Given the description of an element on the screen output the (x, y) to click on. 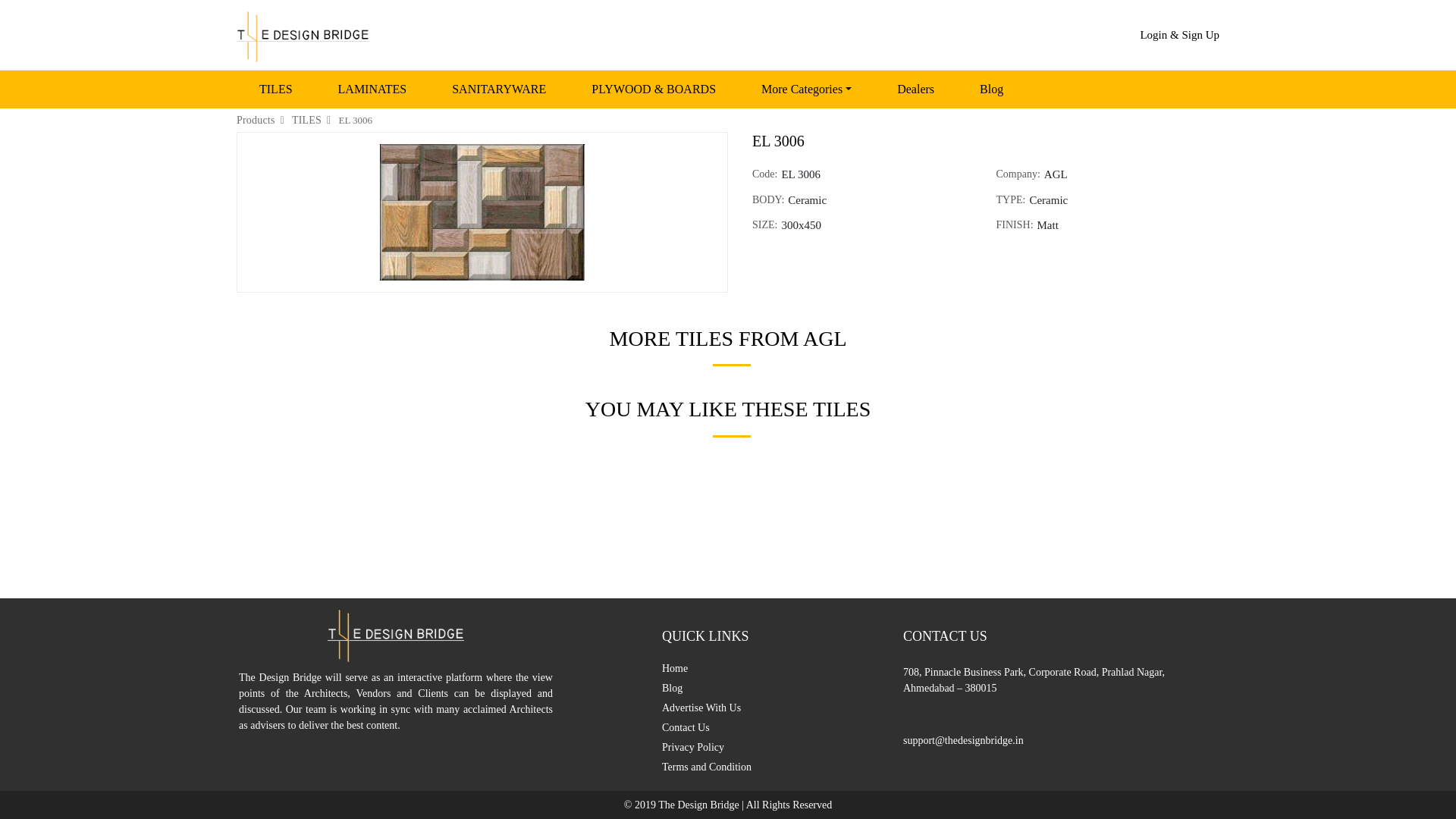
SANITARYWARE (498, 89)
Dealers (915, 89)
LAMINATES (372, 89)
TILES (275, 89)
TILES (306, 120)
More Categories (806, 89)
Products (255, 120)
Blog (991, 89)
